Given the description of an element on the screen output the (x, y) to click on. 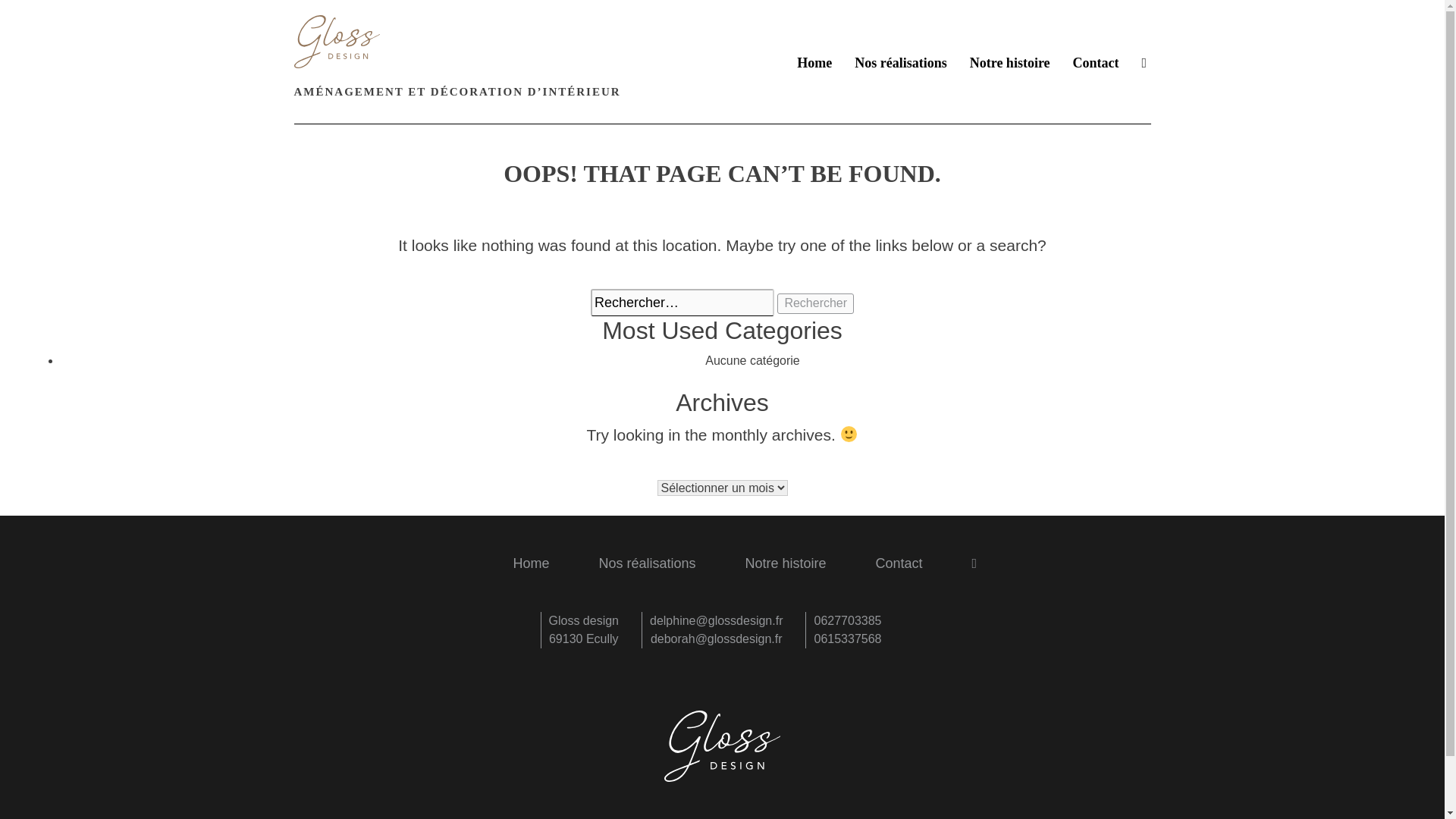
Home (530, 563)
Contact (899, 563)
Contact (1096, 63)
Rechercher (815, 302)
0627703385 (846, 620)
0615337568 (846, 638)
Rechercher (815, 302)
Notre histoire (784, 563)
Home (813, 63)
Rechercher (815, 302)
